Given the description of an element on the screen output the (x, y) to click on. 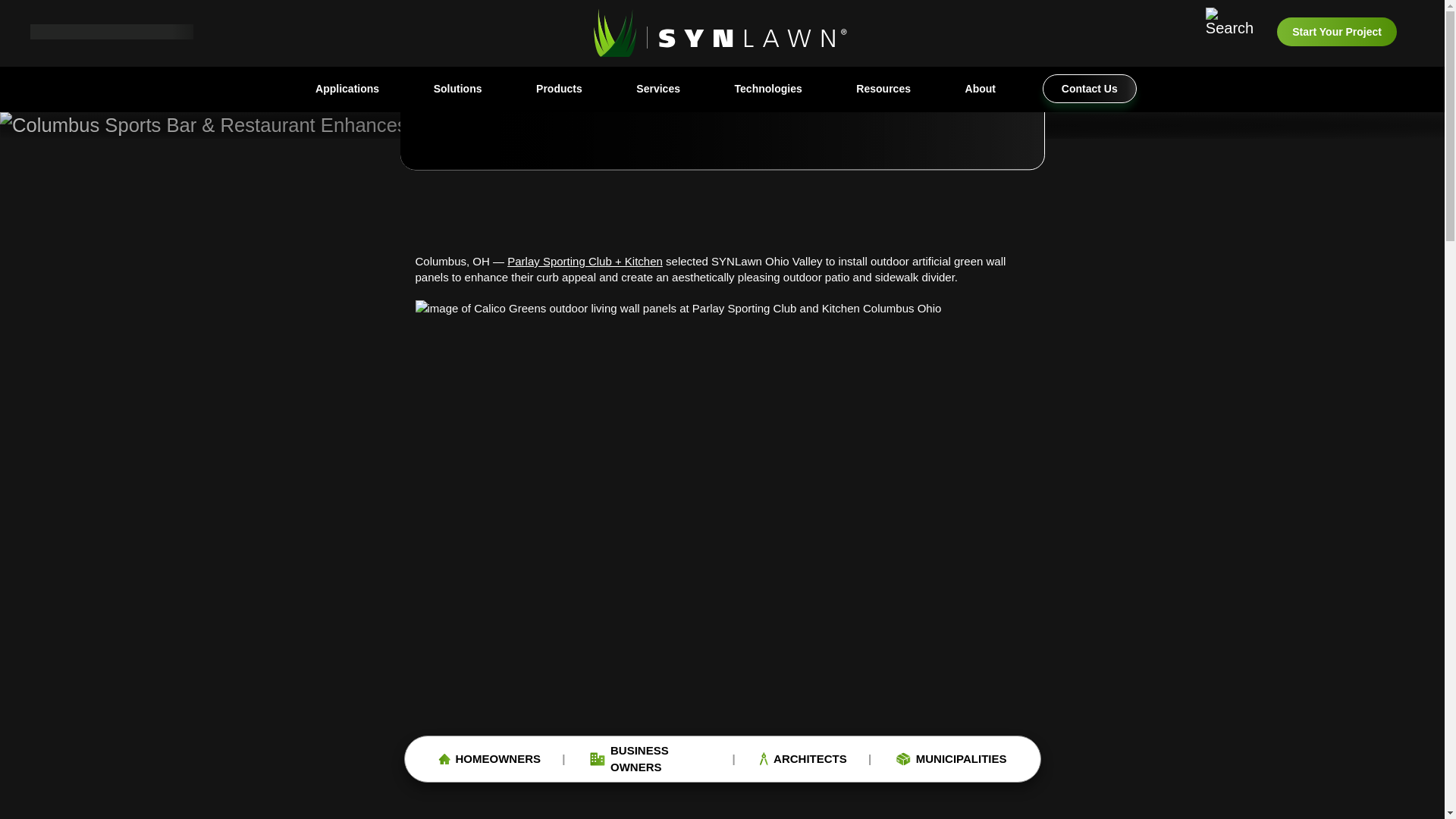
Business Owners (649, 758)
Solutions (457, 88)
Municipalities (951, 759)
Applications (346, 88)
Homeowners (489, 759)
Search (1229, 31)
Architects (803, 759)
Start Your Project (1336, 31)
Products (558, 88)
